Given the description of an element on the screen output the (x, y) to click on. 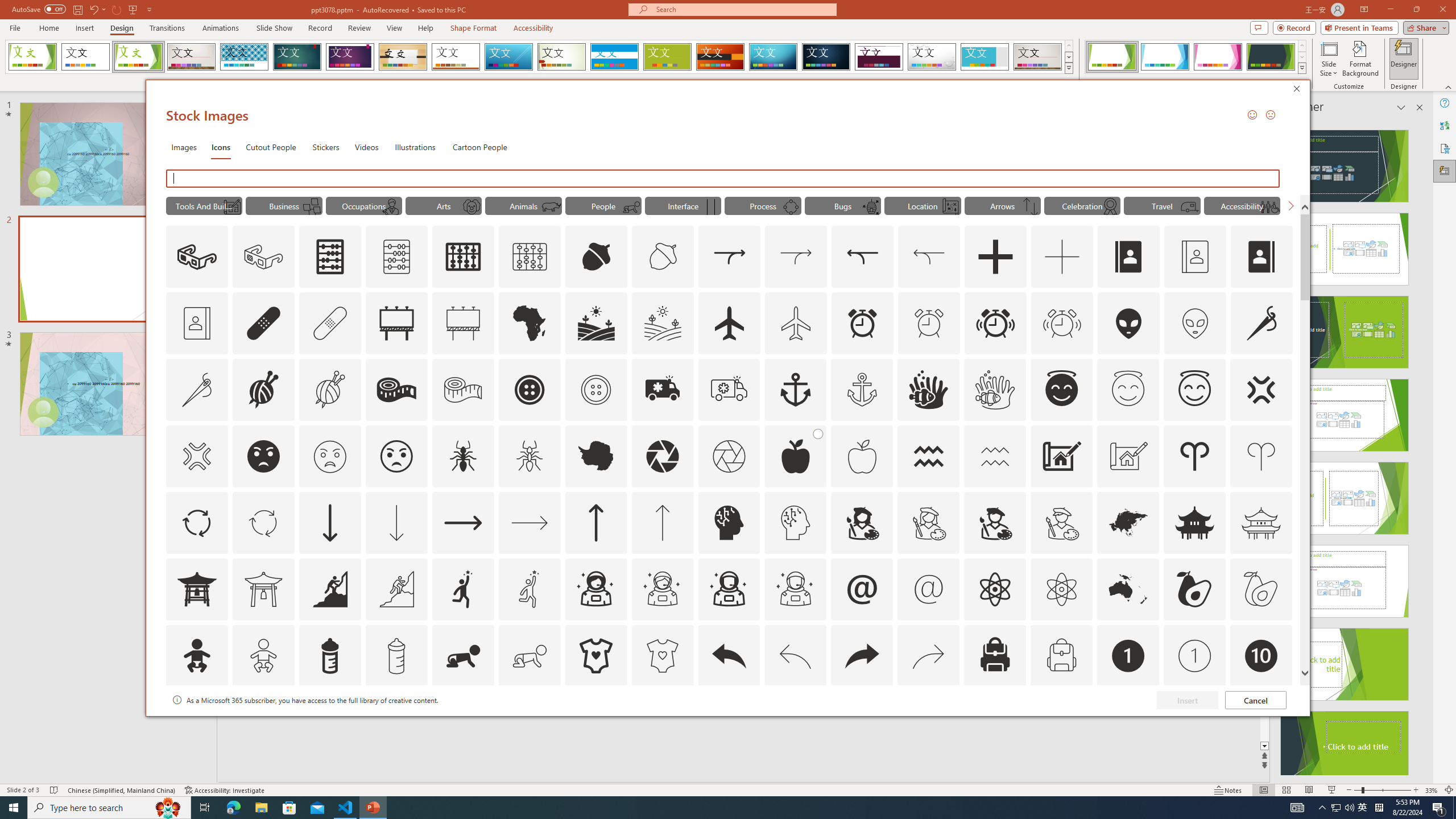
AutomationID: Icons_CirclesWithLines_M (790, 206)
AutomationID: Icons_Atom_M (1061, 588)
AutomationID: Icons_AstronautFemale (595, 588)
AutomationID: Icons_BabyCrawling_M (529, 655)
"Accessibility" Icons. (1241, 205)
Facet Variant 3 (1217, 56)
AutomationID: Icons_AngerSymbol (1260, 389)
AutomationID: Icons_Atom (995, 588)
AutomationID: Icons_AngerSymbol_M (196, 455)
